Given the description of an element on the screen output the (x, y) to click on. 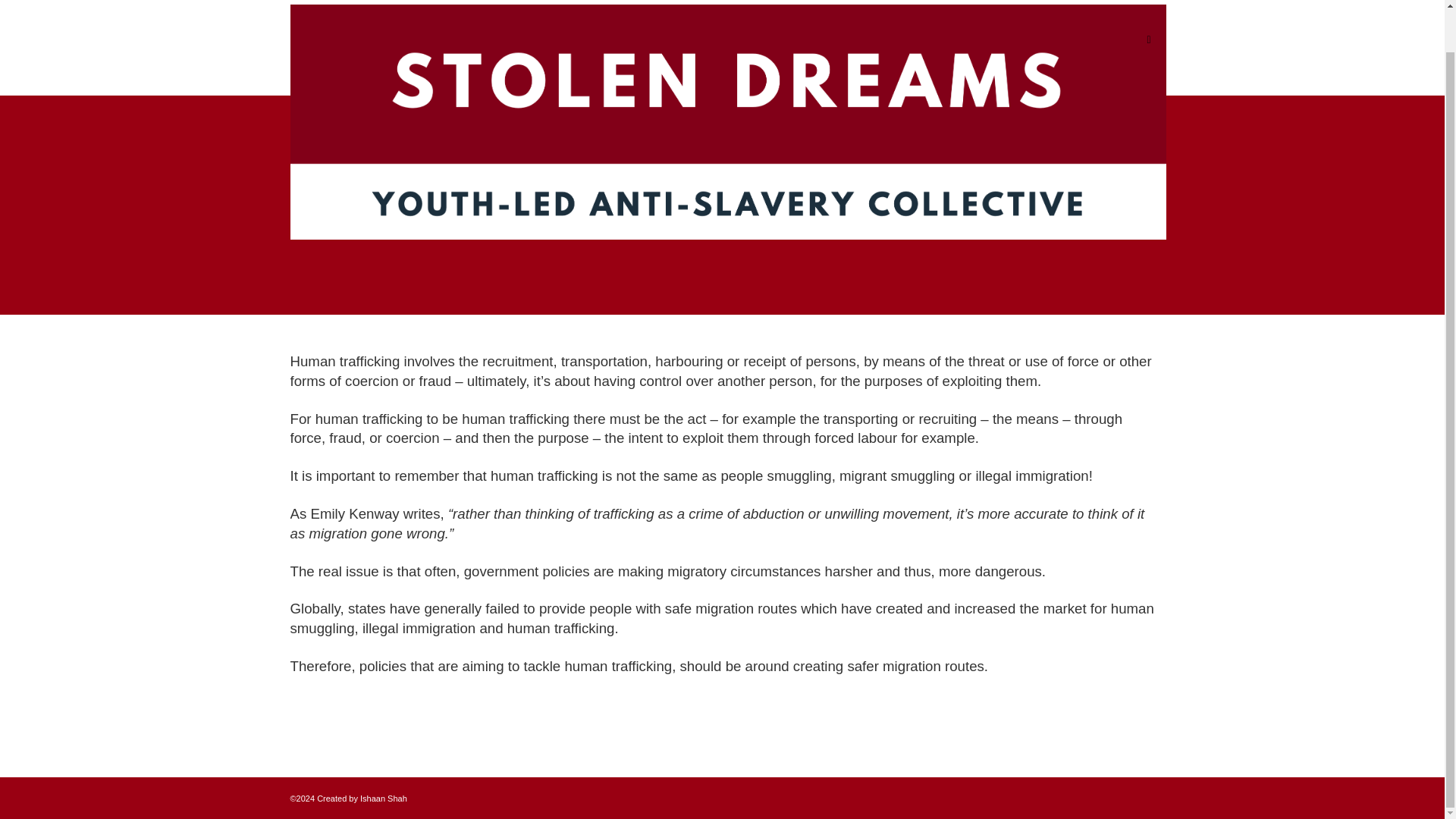
What is Modern Slavery? (809, 38)
